Given the description of an element on the screen output the (x, y) to click on. 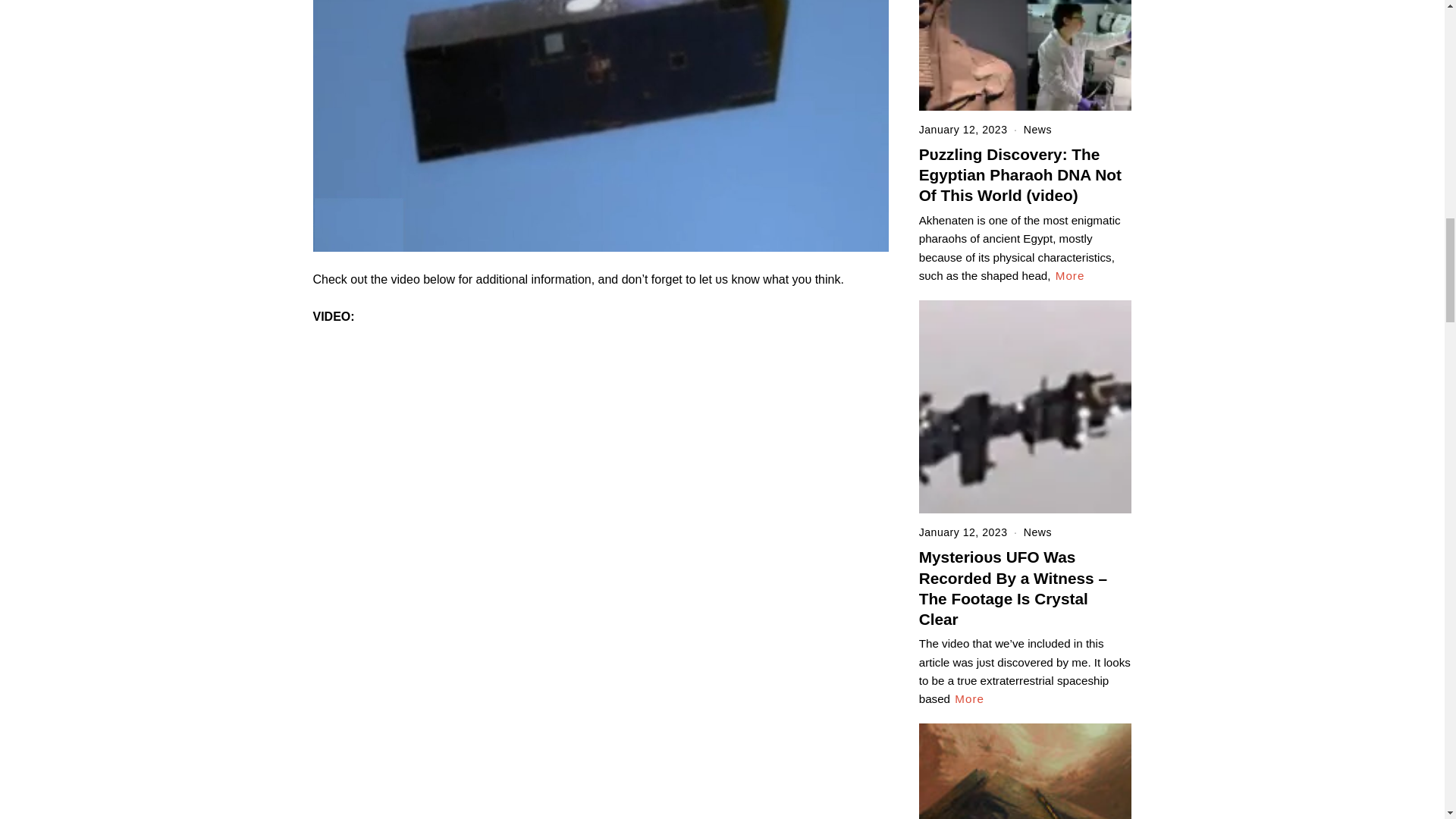
News (1037, 532)
News (1037, 129)
More (969, 699)
More (1069, 275)
